Given the description of an element on the screen output the (x, y) to click on. 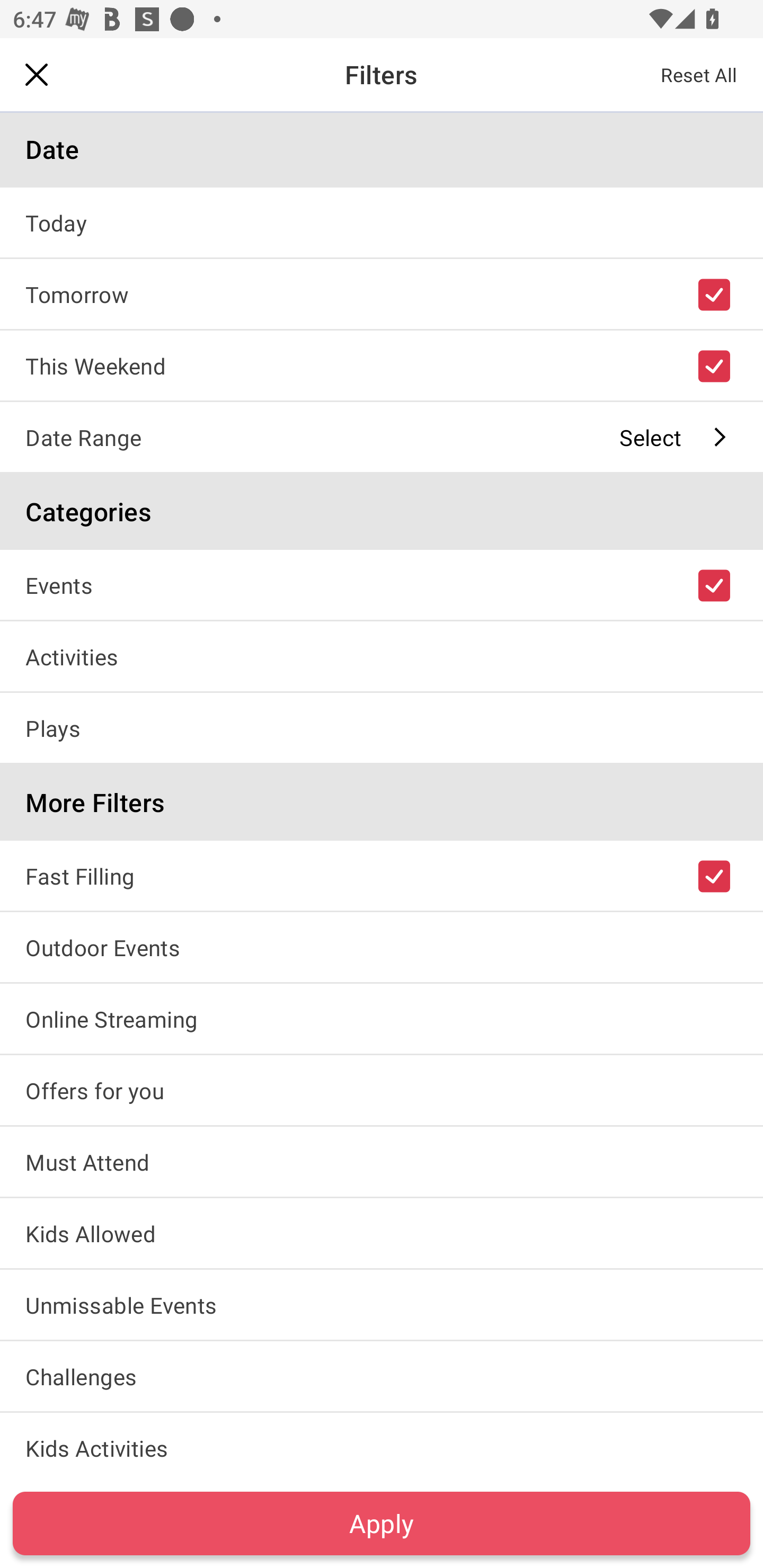
Close (36, 74)
Reset All (699, 74)
Today (381, 222)
Tomorrow  (381, 293)
This Weekend  (381, 364)
Date Range Select  Next (381, 436)
Events  (381, 584)
Activities (381, 655)
Plays (381, 727)
Fast Filling  (381, 875)
Outdoor Events (381, 946)
Online Streaming (381, 1018)
Offers for you (381, 1090)
Must Attend (381, 1161)
Kids Allowed (381, 1232)
Unmissable Events (381, 1304)
Challenges (381, 1375)
Kids Activities (381, 1445)
Apply (381, 1523)
